Given the description of an element on the screen output the (x, y) to click on. 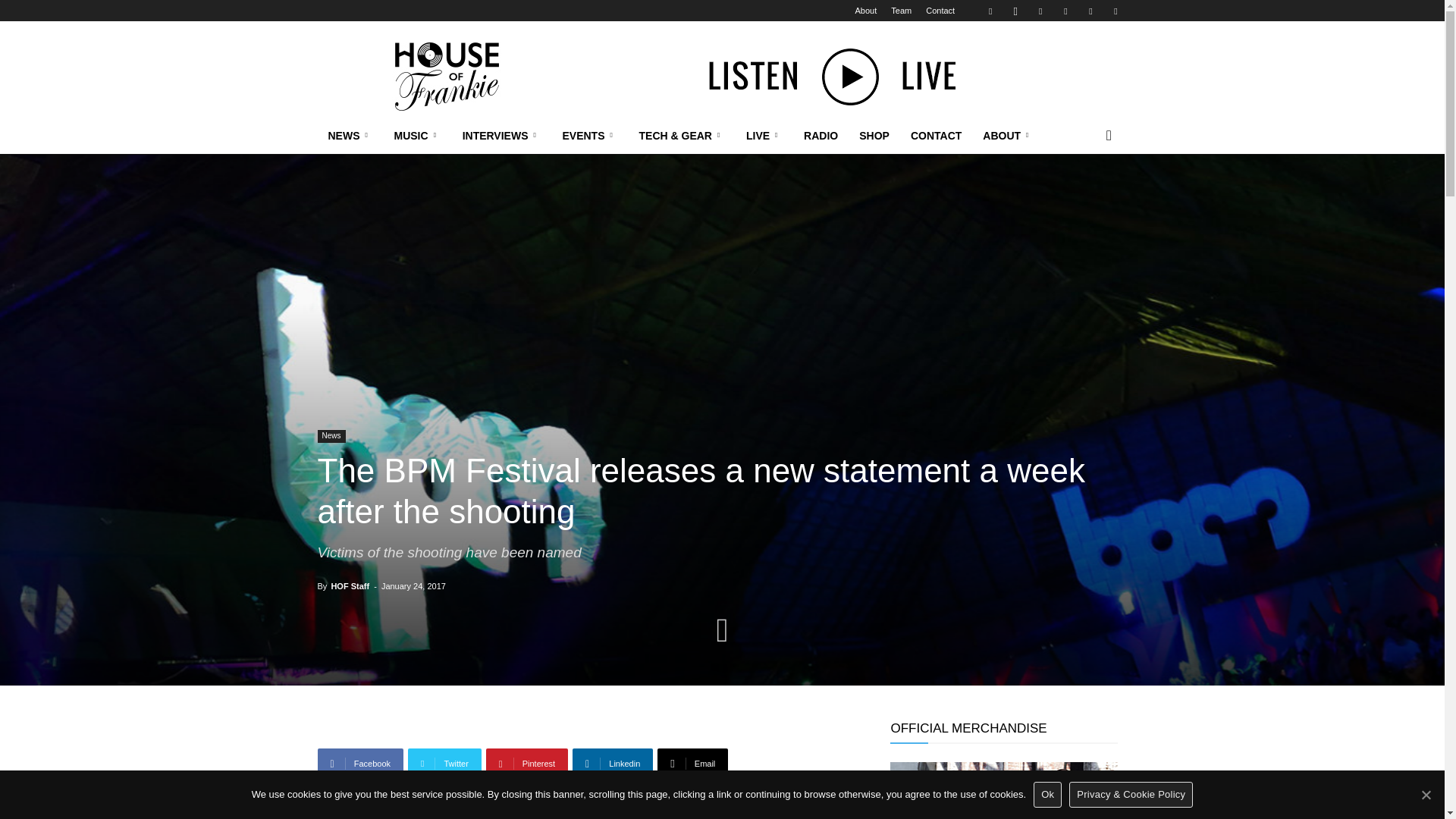
Facebook (989, 10)
Instagram (1015, 10)
Pinterest (1040, 10)
HOUSE of Frankie Underground Radio (445, 76)
NEWS (349, 135)
Soundcloud (1065, 10)
About (865, 10)
Team (901, 10)
Contact (940, 10)
Youtube (1114, 10)
Twitter (1090, 10)
